Given the description of an element on the screen output the (x, y) to click on. 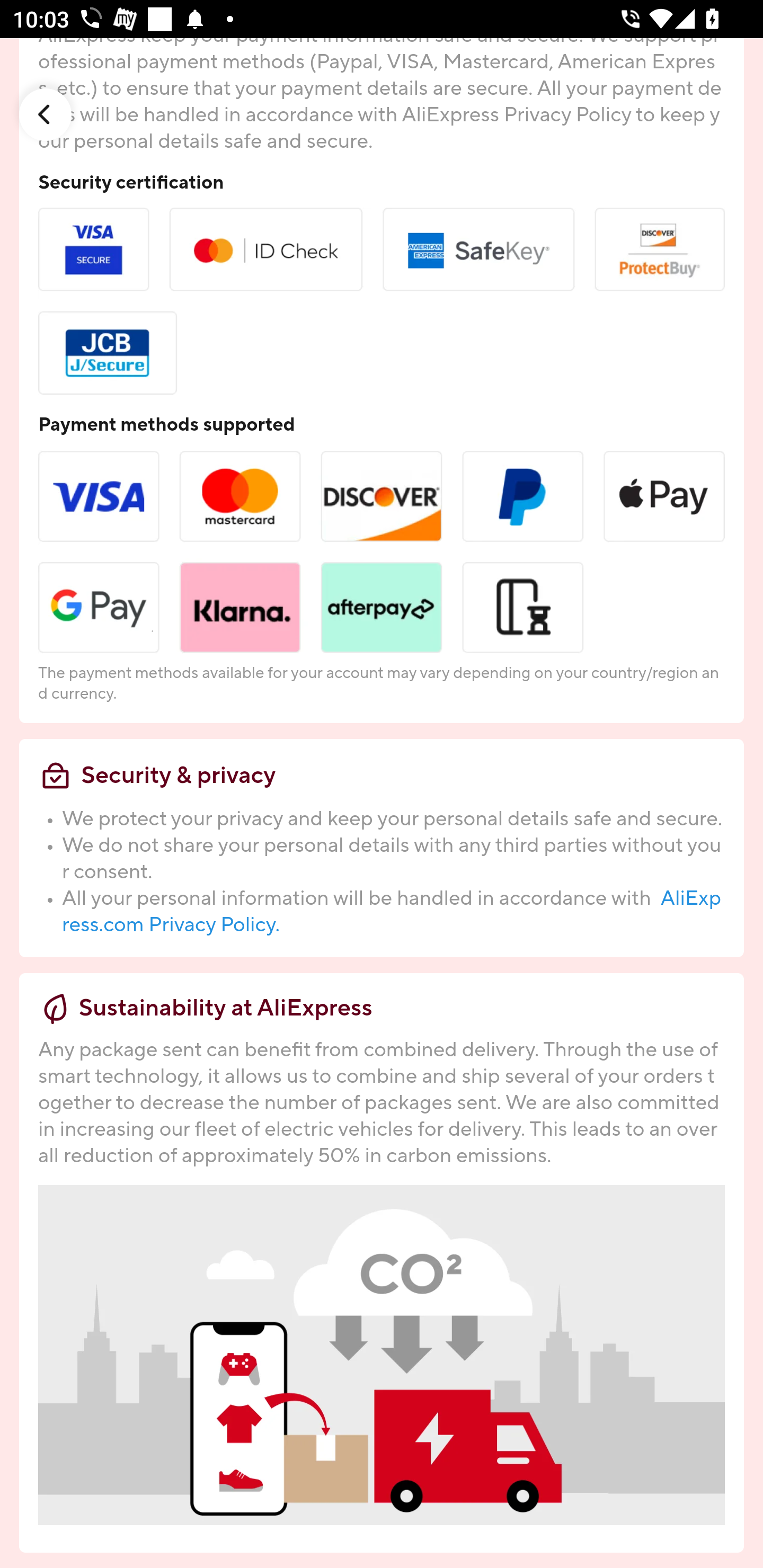
96x96 (45, 114)
AliExpress.com Privacy Policy. (391, 912)
